Given the description of an element on the screen output the (x, y) to click on. 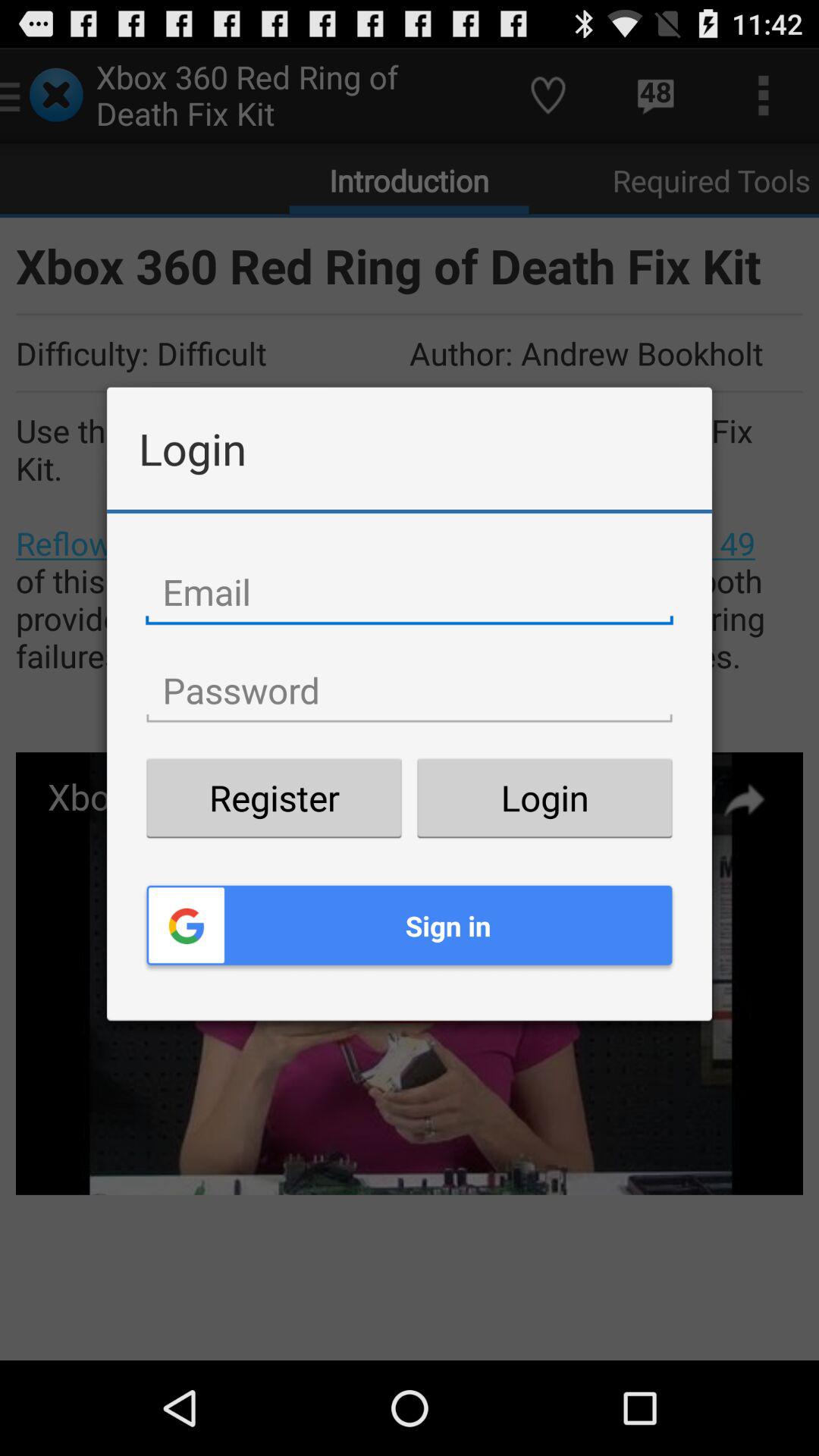
click item above the sign in (273, 797)
